Given the description of an element on the screen output the (x, y) to click on. 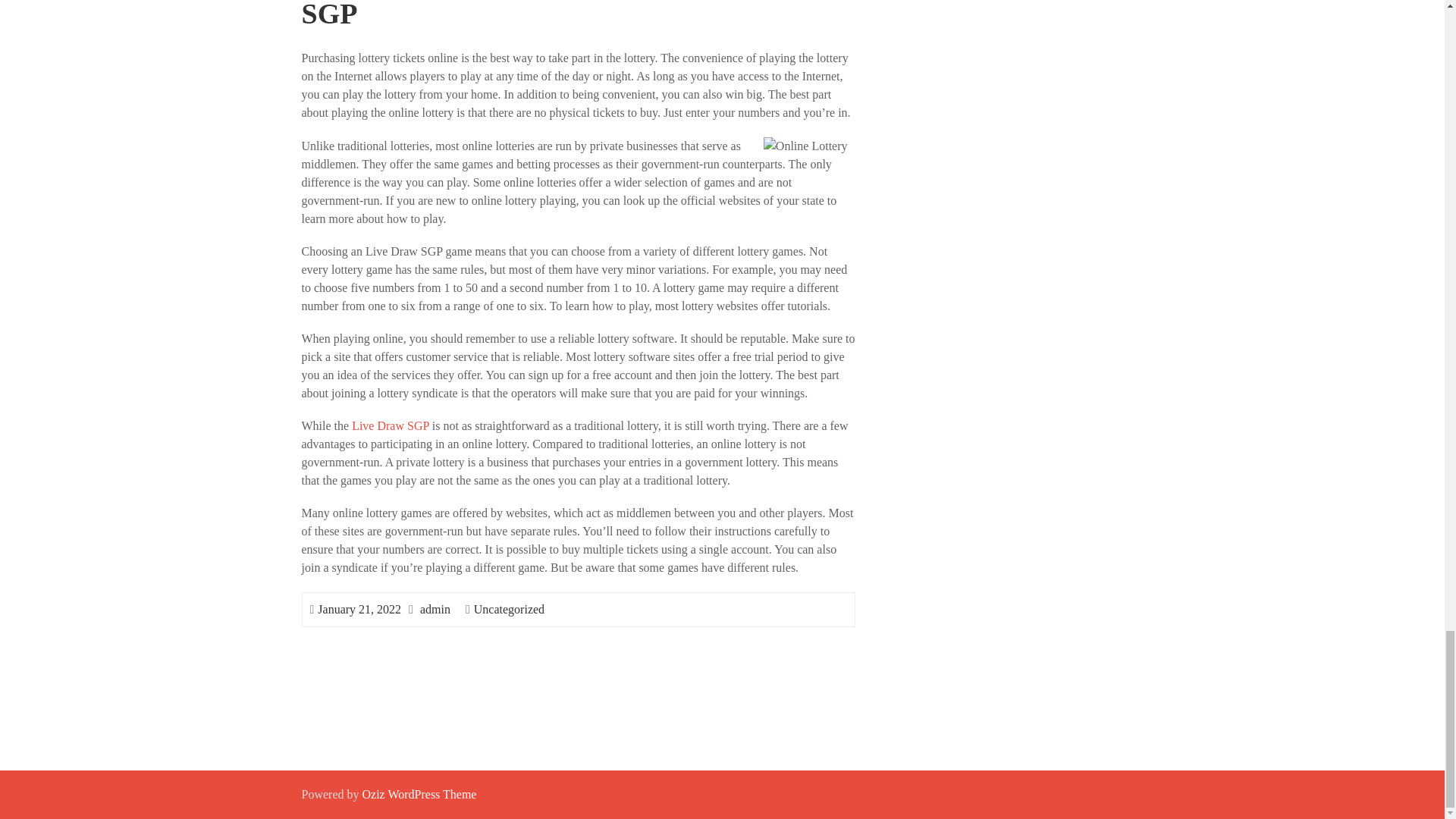
admin (434, 608)
Live Draw SGP (390, 425)
Uncategorized (509, 608)
January 21, 2022 (359, 608)
